Given the description of an element on the screen output the (x, y) to click on. 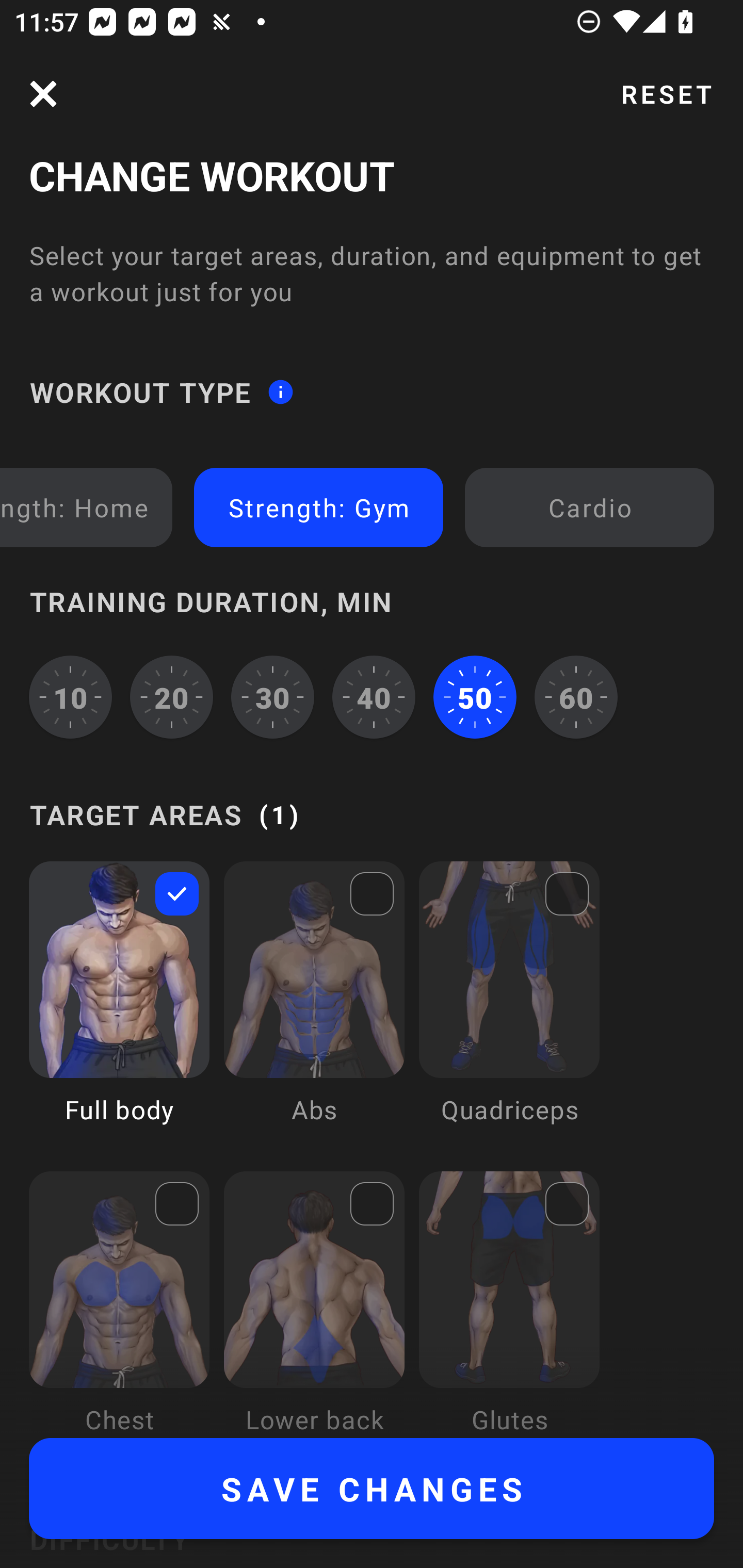
Navigation icon (43, 93)
RESET (666, 93)
Workout type information button (280, 391)
Cardio (588, 507)
10 (70, 696)
20 (171, 696)
30 (272, 696)
40 (373, 696)
50 (474, 696)
60 (575, 696)
Abs (313, 1007)
Quadriceps (509, 1007)
Chest (118, 1304)
Lower back (313, 1304)
Glutes (509, 1304)
SAVE CHANGES (371, 1488)
